Given the description of an element on the screen output the (x, y) to click on. 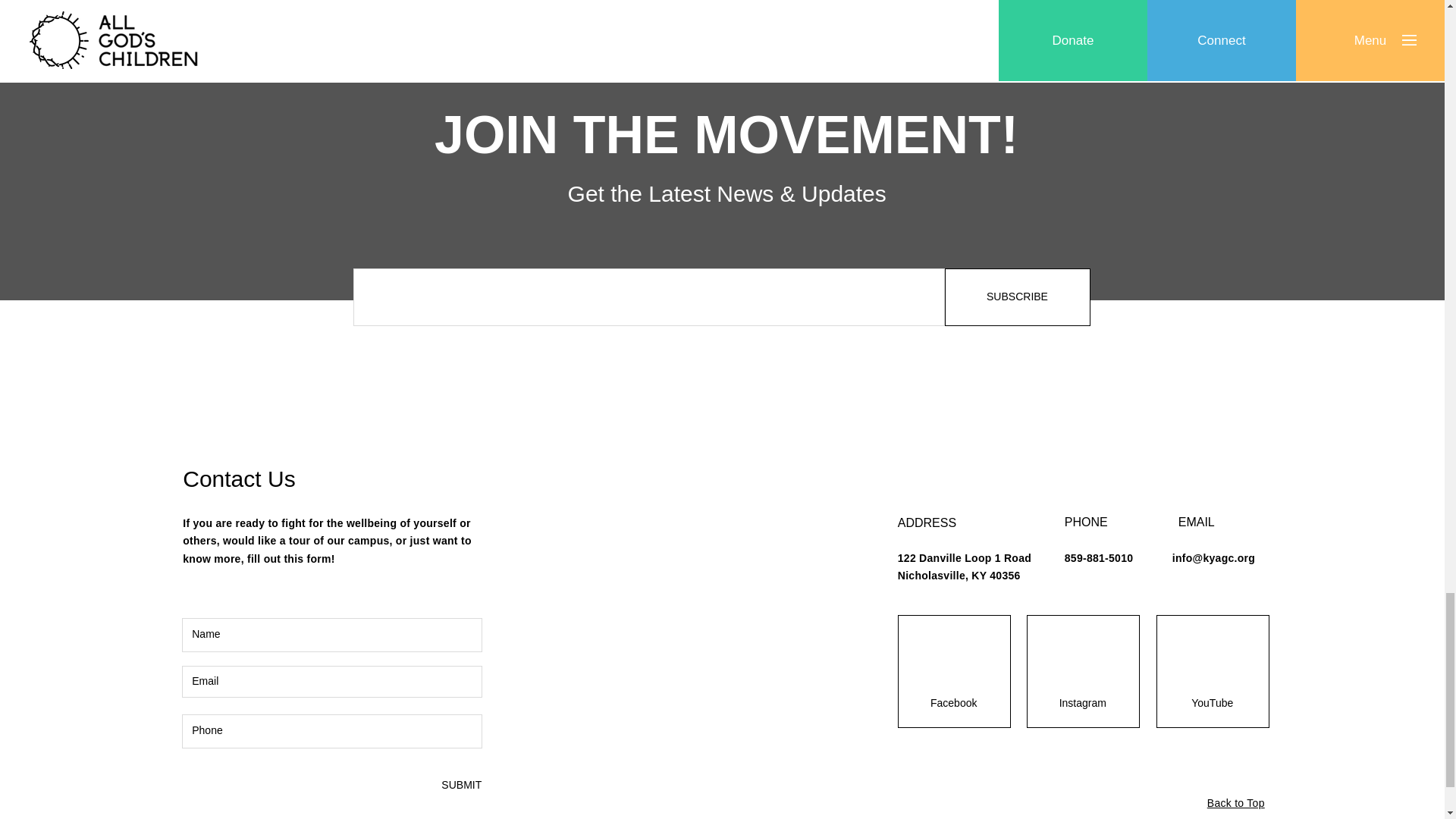
YouTube (1211, 703)
Facebook (954, 703)
SUBSCRIBE (1017, 296)
Instagram (1082, 703)
Back to Top (1236, 802)
SUBMIT (460, 786)
